Given the description of an element on the screen output the (x, y) to click on. 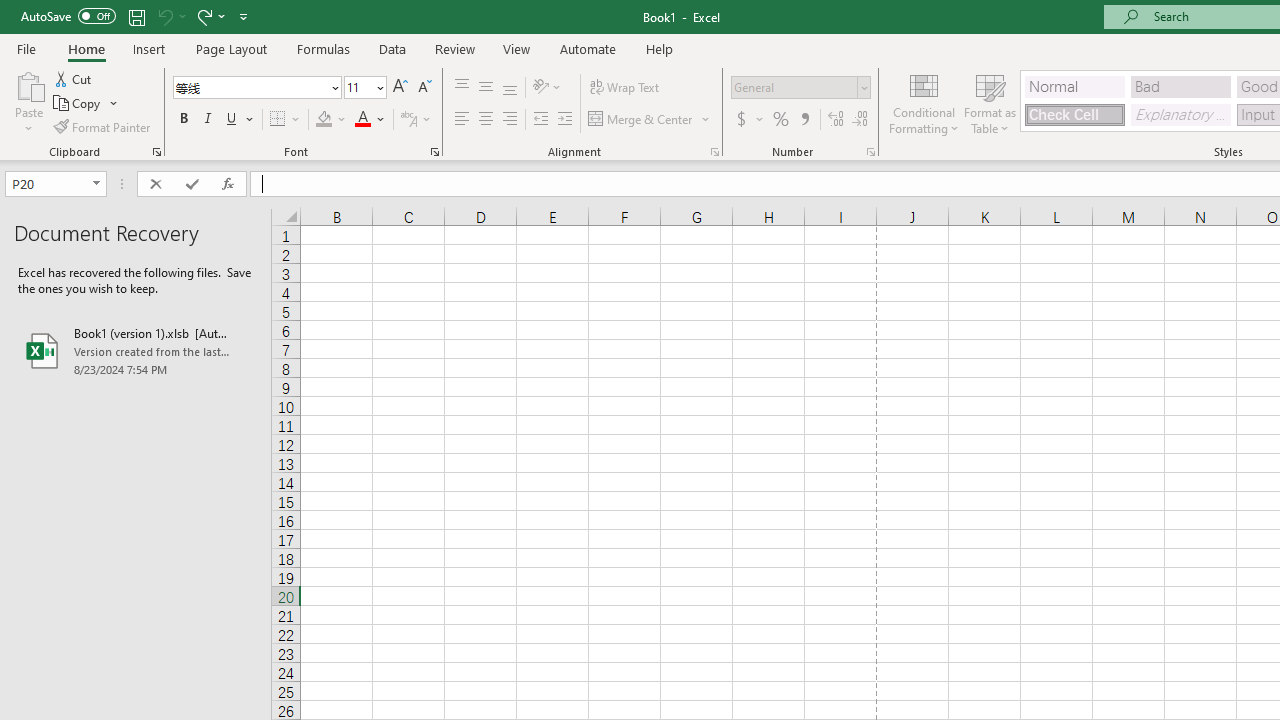
Increase Decimal (836, 119)
Paste (28, 102)
Show Phonetic Field (416, 119)
Bold (183, 119)
Copy (78, 103)
Underline (239, 119)
Font Size (358, 87)
Decrease Indent (540, 119)
Font Color RGB(255, 0, 0) (362, 119)
Paste (28, 84)
Bad (1180, 86)
Increase Font Size (399, 87)
